Given the description of an element on the screen output the (x, y) to click on. 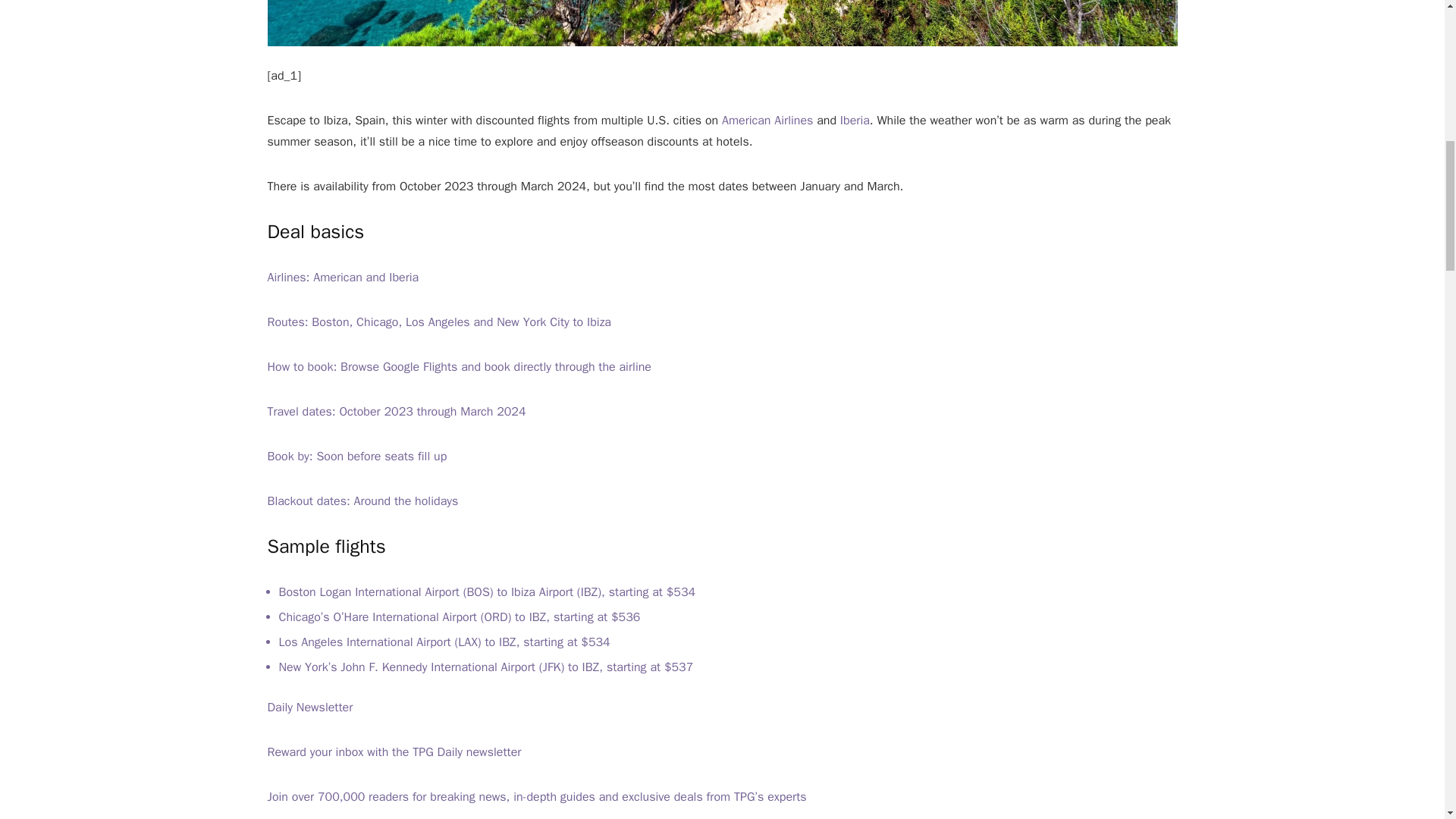
Iberia (854, 120)
American Airlines (767, 120)
